Given the description of an element on the screen output the (x, y) to click on. 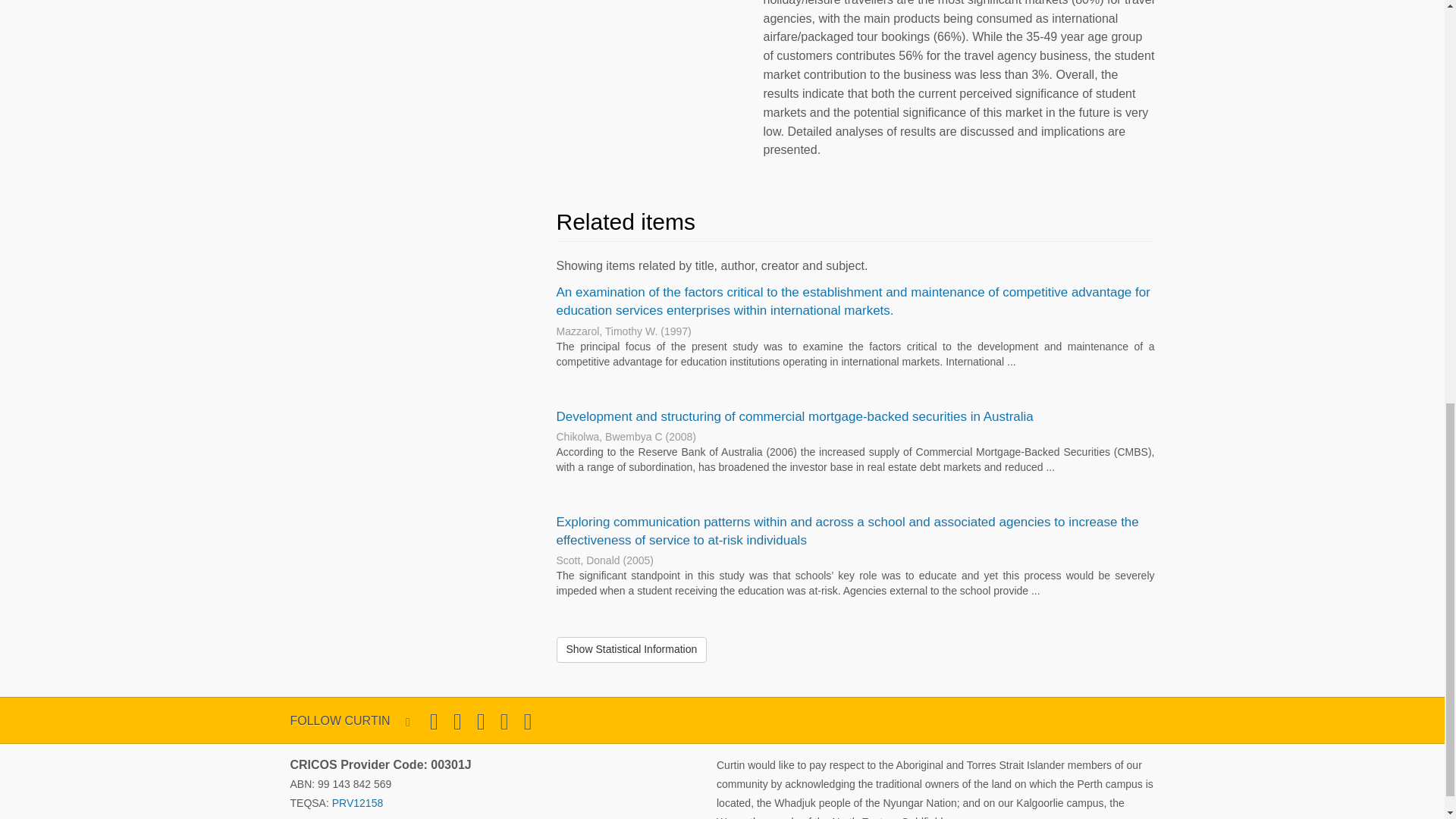
Show Statistical Information (631, 649)
